Given the description of an element on the screen output the (x, y) to click on. 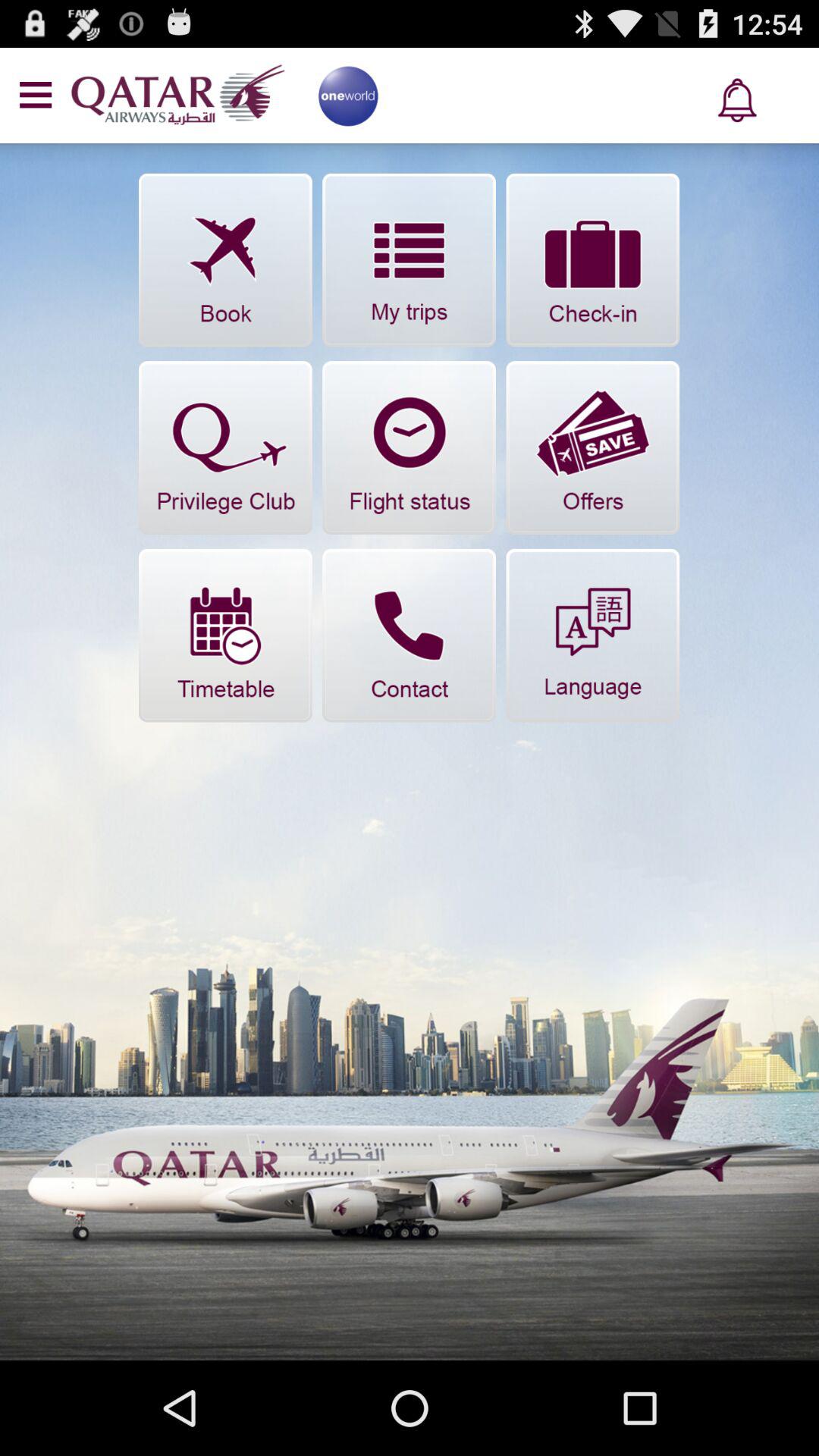
check in (592, 259)
